Given the description of an element on the screen output the (x, y) to click on. 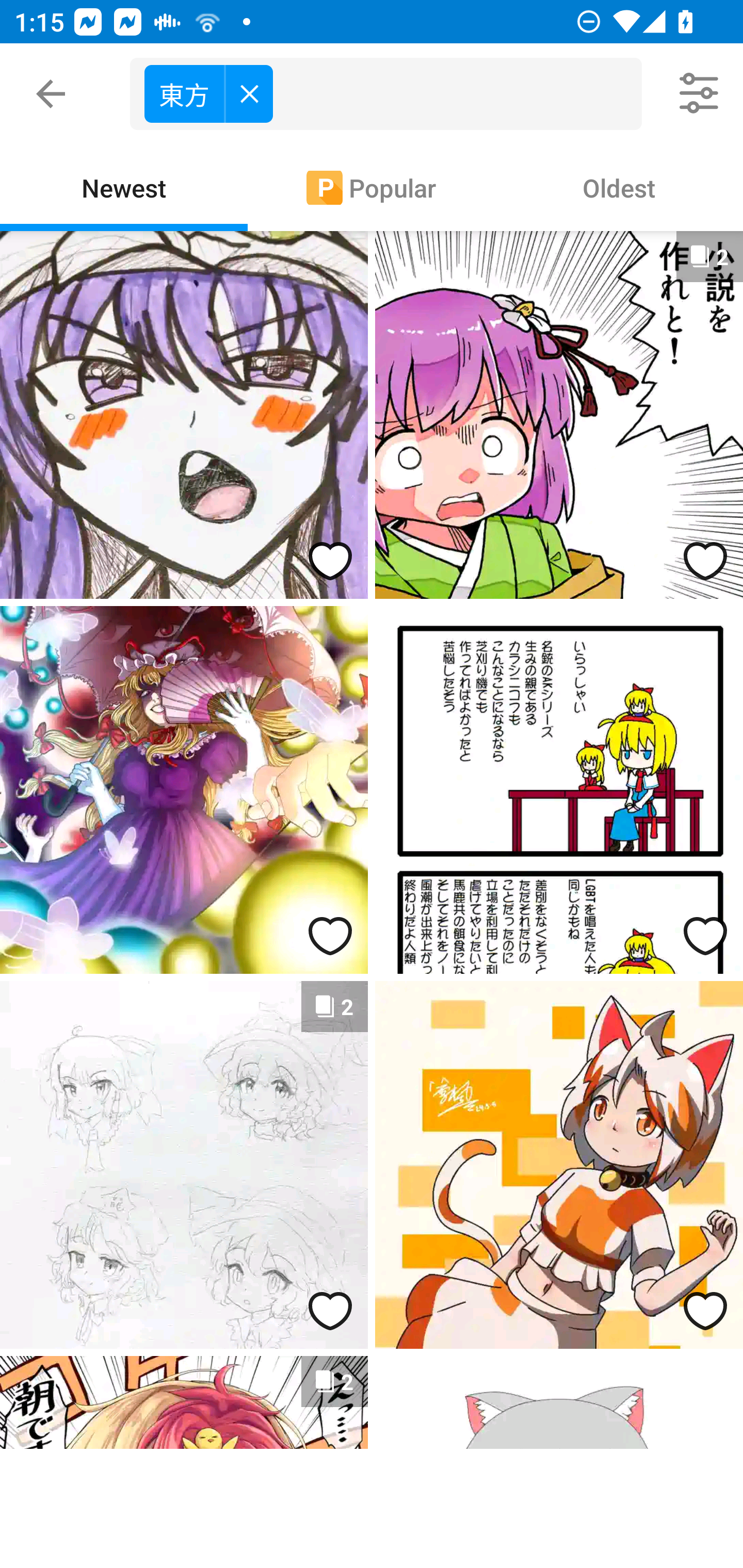
Navigate up (50, 93)
Filters (699, 93)
東方 (208, 93)
[P] Popular (371, 187)
Oldest (619, 187)
2 (559, 414)
2 (183, 1164)
